Given the description of an element on the screen output the (x, y) to click on. 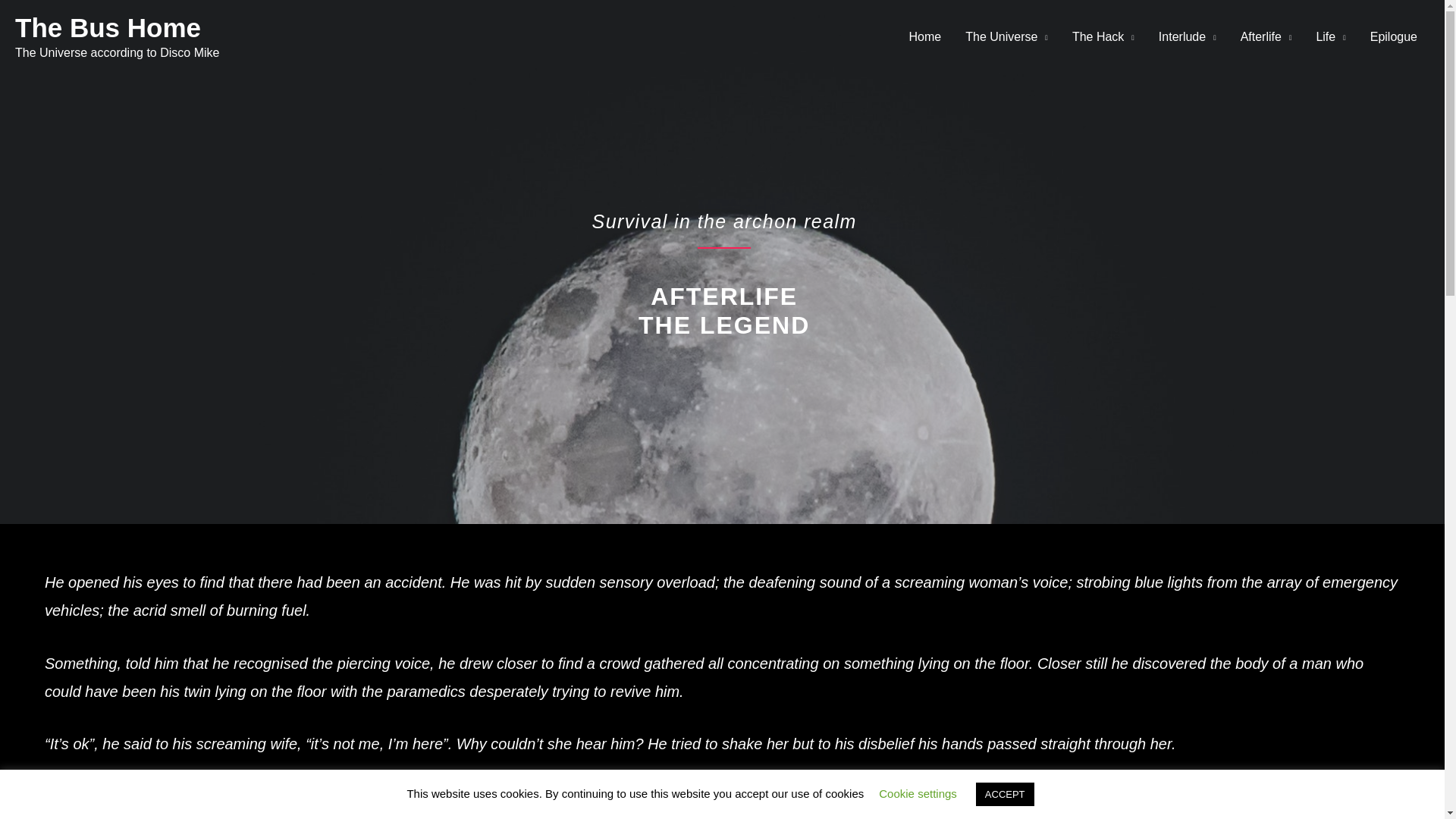
The Hack (1103, 37)
Afterlife (1266, 37)
Epilogue (1393, 37)
The Universe (1006, 37)
Life (1329, 37)
Interlude (1187, 37)
The Bus Home (107, 27)
Home (924, 37)
